Given the description of an element on the screen output the (x, y) to click on. 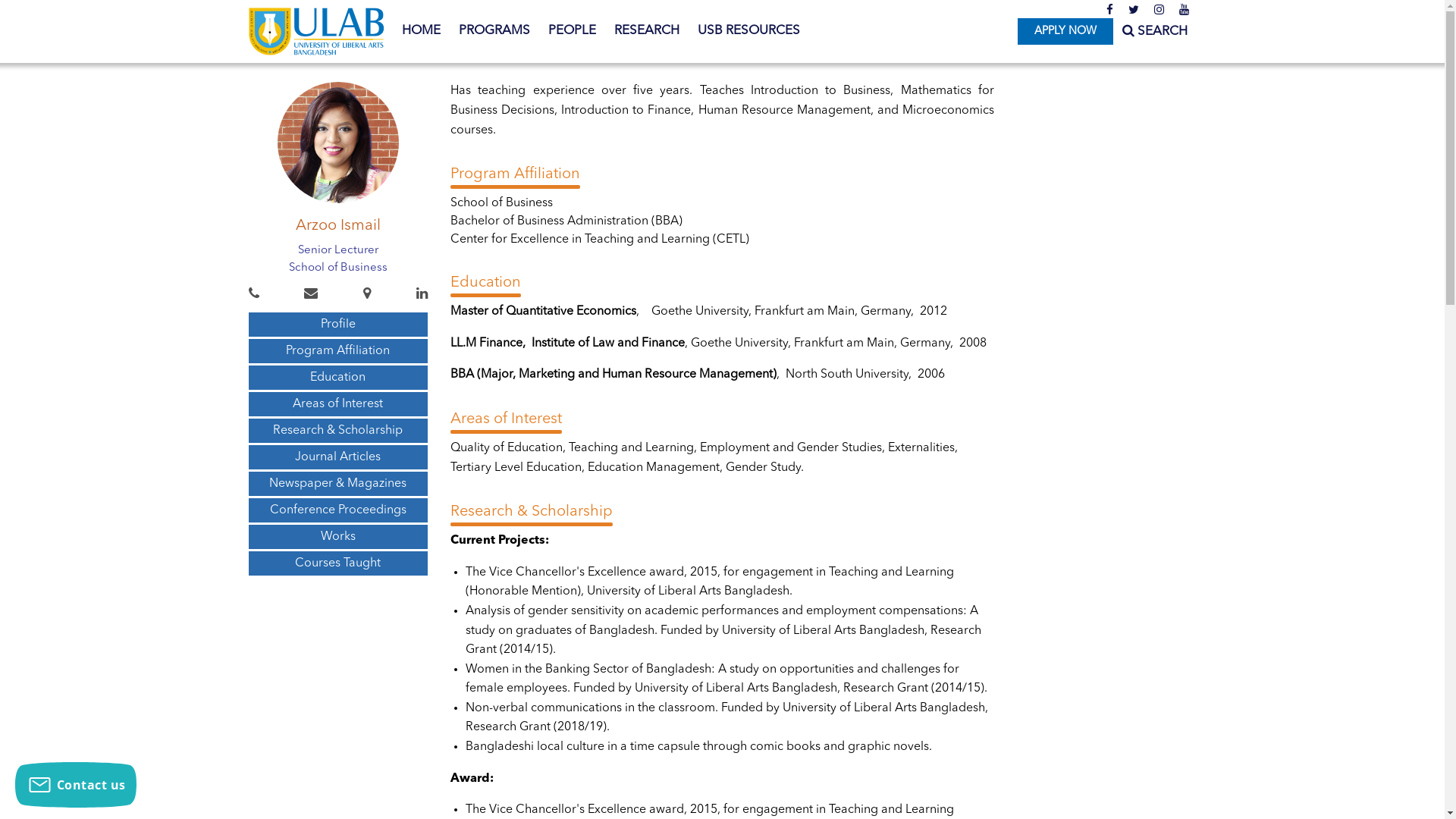
Education Element type: text (338, 377)
Contact us Element type: text (75, 784)
Journal Articles Element type: text (338, 457)
Skip to main content Element type: text (61, 0)
Courses Taught Element type: text (338, 563)
Research & Scholarship Element type: text (338, 430)
USB RESOURCES Element type: text (748, 30)
Conference Proceedings Element type: text (338, 510)
APPLY NOW Element type: text (1064, 31)
Program Affiliation Element type: text (338, 350)
SEARCH Element type: text (1154, 31)
PEOPLE Element type: text (571, 30)
HOME Element type: text (420, 30)
Profile Element type: text (338, 324)
Areas of Interest Element type: text (338, 404)
Newspaper & Magazines Element type: text (338, 483)
Works Element type: text (338, 536)
RESEARCH Element type: text (646, 30)
PROGRAMS Element type: text (493, 30)
